Given the description of an element on the screen output the (x, y) to click on. 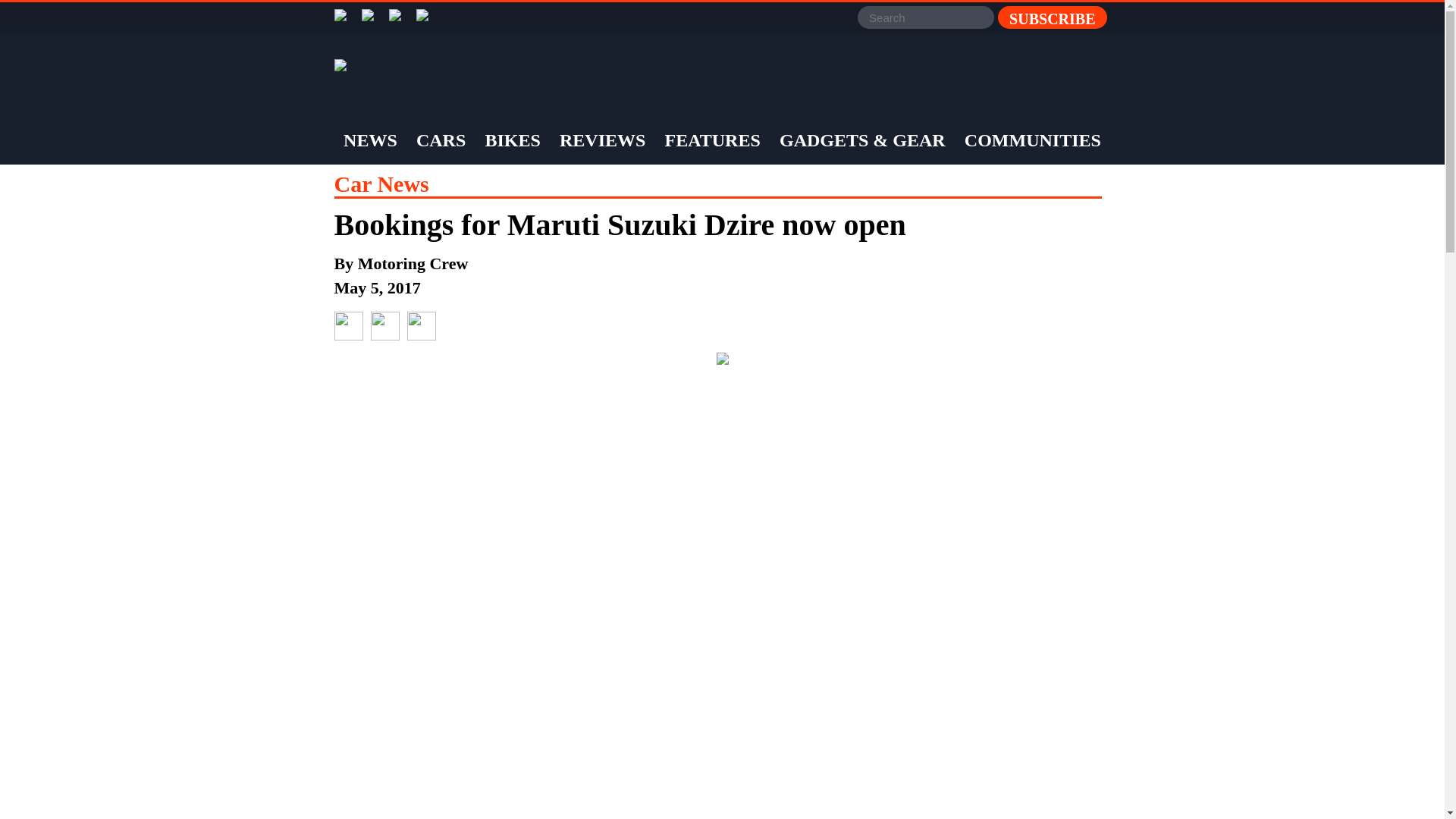
Car News (380, 183)
COMMUNITIES (1032, 140)
NEWS (370, 140)
BIKES (511, 140)
Posts by Motoring Crew (413, 262)
CARS (440, 140)
FEATURES (712, 140)
REVIEWS (602, 140)
SUBSCRIBE (1051, 16)
Motoring Crew (413, 262)
